Given the description of an element on the screen output the (x, y) to click on. 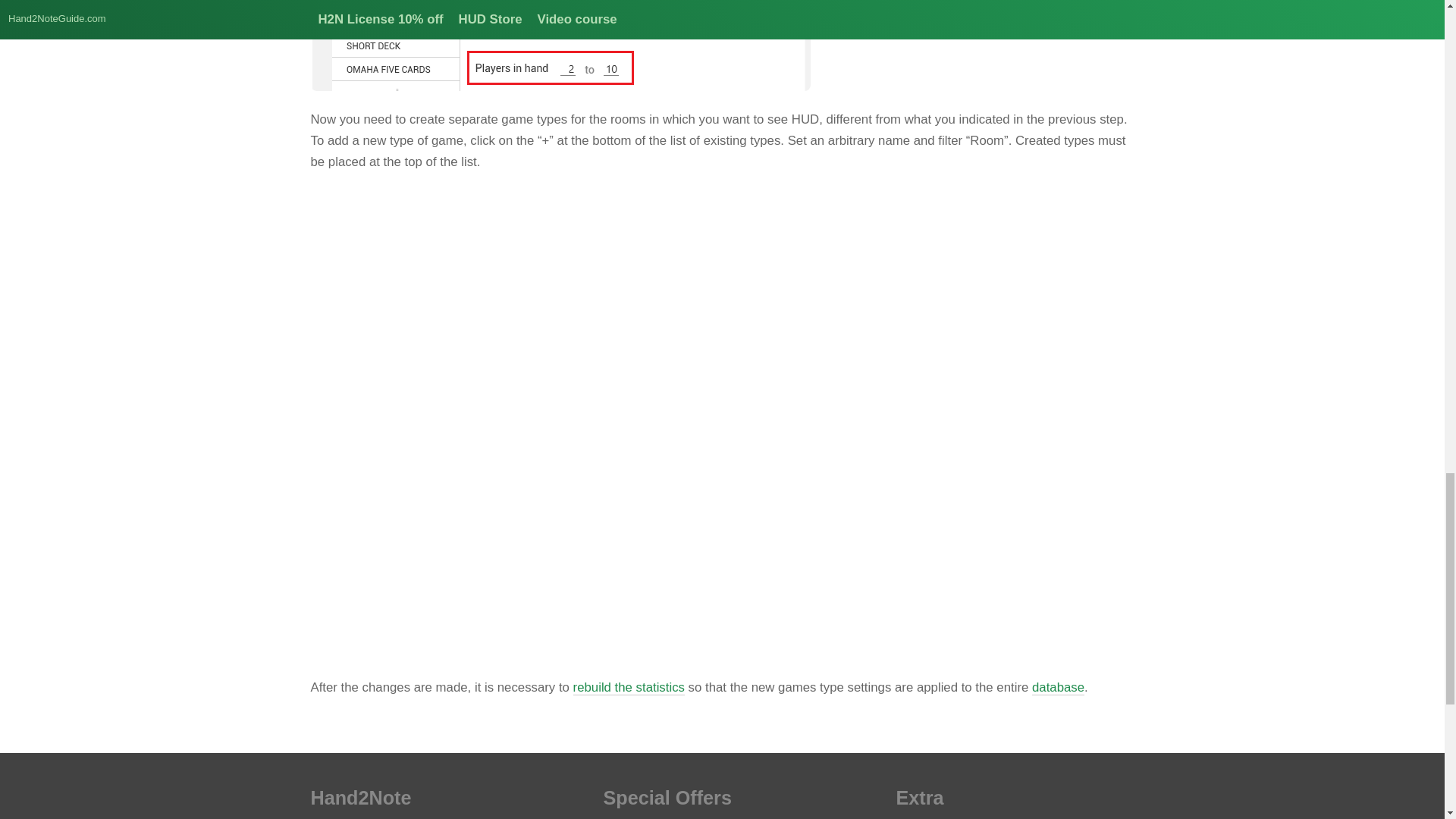
rebuild the statistics (628, 687)
database (1058, 687)
